Given the description of an element on the screen output the (x, y) to click on. 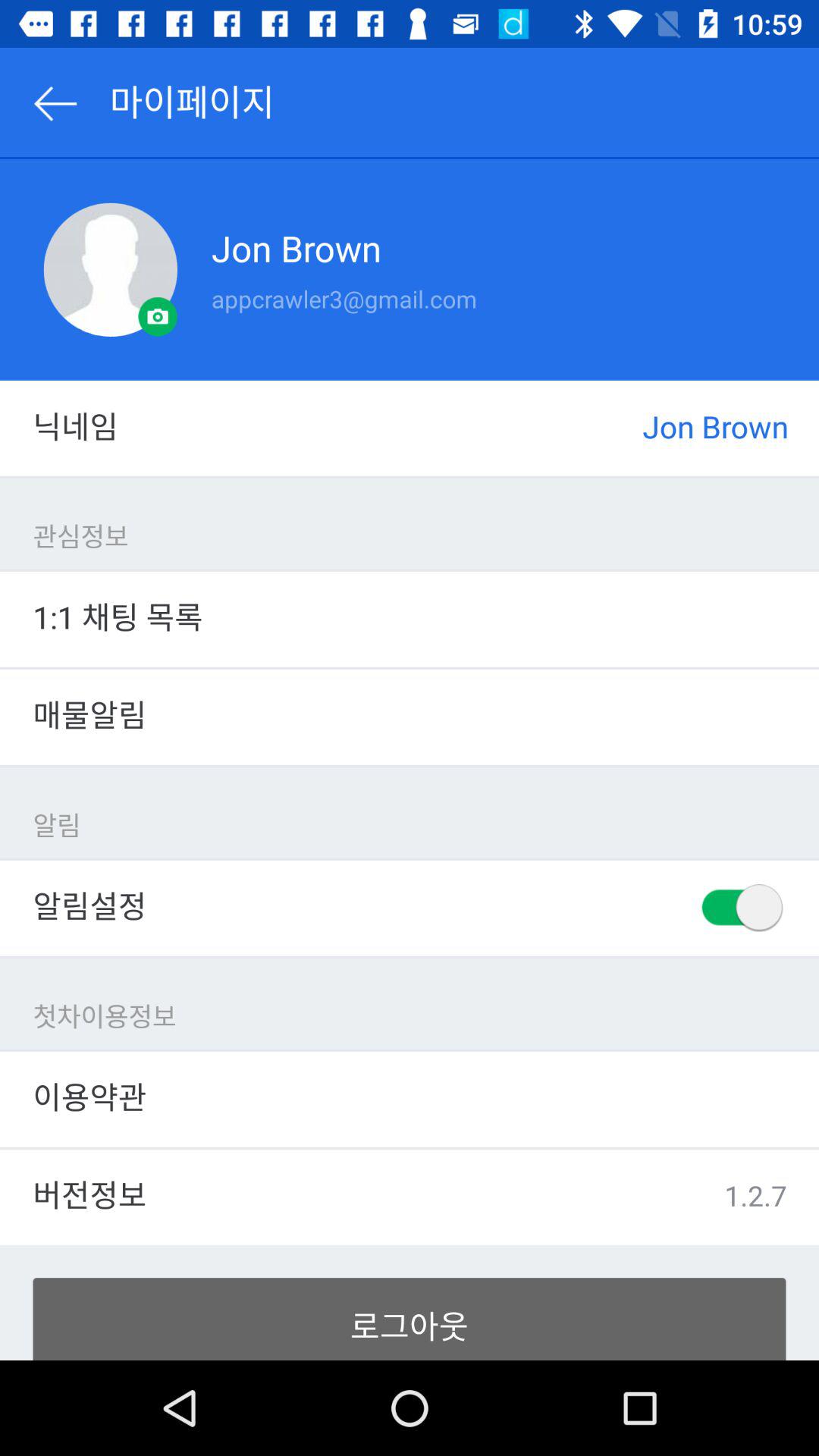
turn off the item to the left of jon brown item (110, 269)
